Given the description of an element on the screen output the (x, y) to click on. 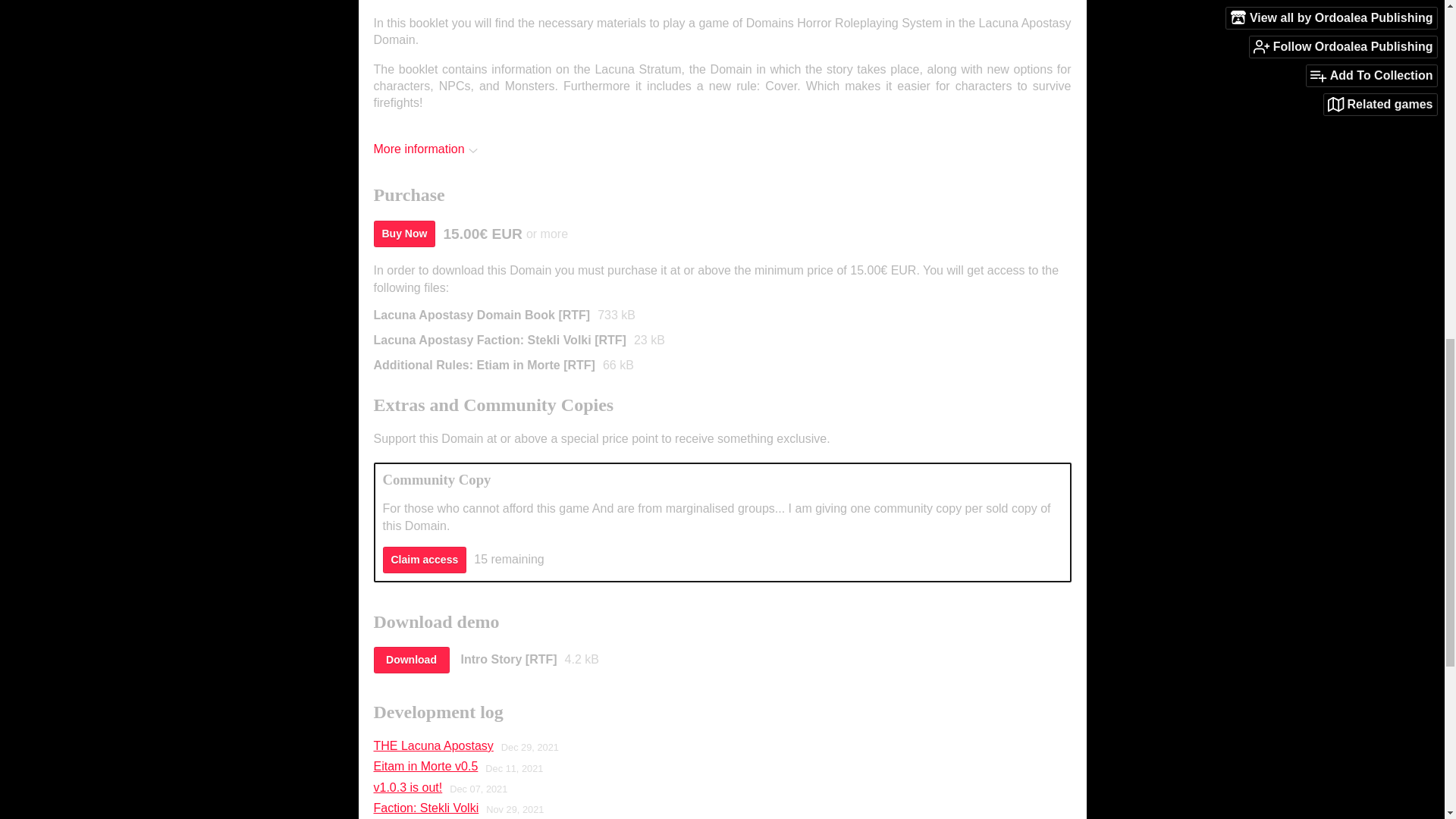
Buy Now (403, 233)
Faction: Stekli Volki (425, 808)
THE Lacuna Apostasy (432, 745)
Claim access (423, 560)
Eitam in Morte v0.5 (424, 766)
Download (410, 660)
v1.0.3 is out! (407, 787)
More information (424, 148)
